Given the description of an element on the screen output the (x, y) to click on. 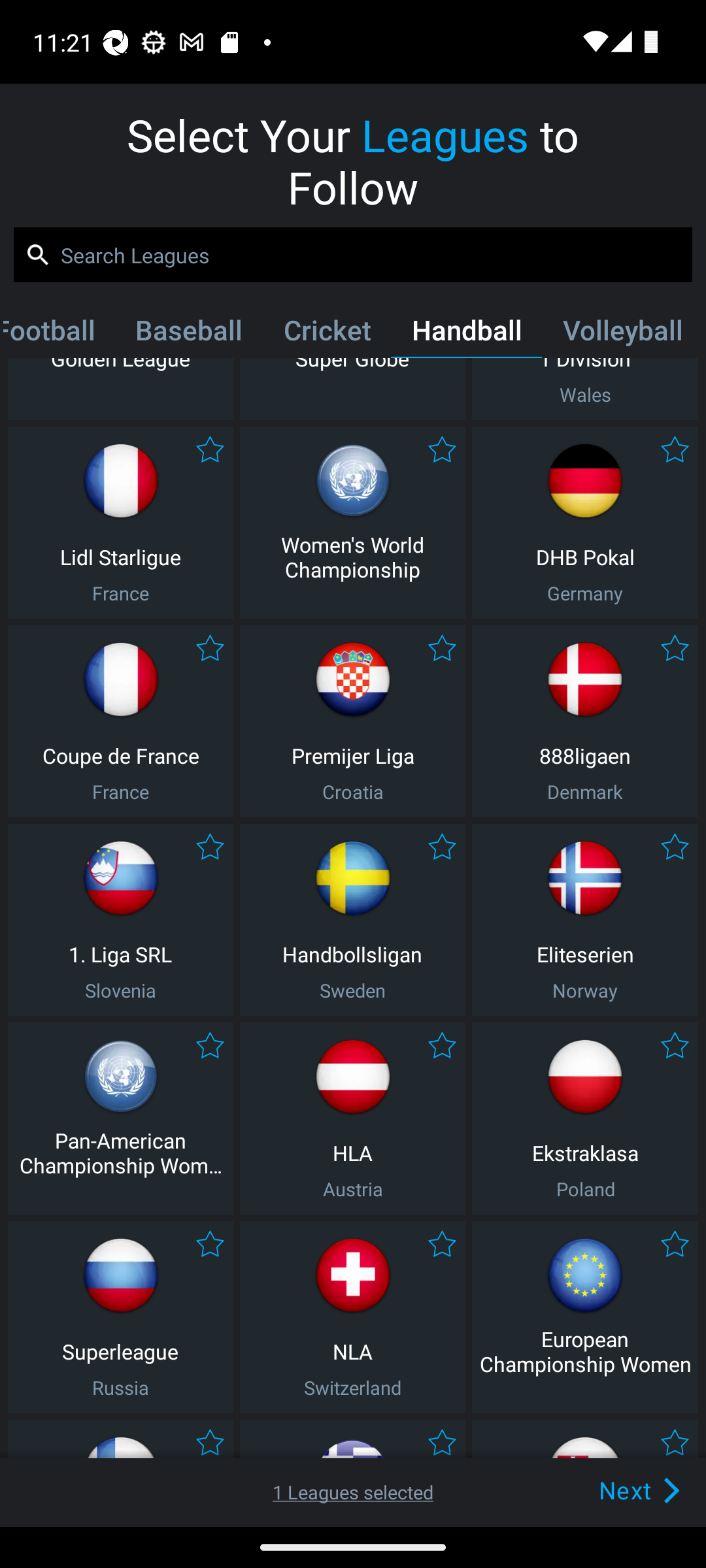
Search Leagues (352, 254)
A. Football (59, 333)
Baseball (188, 333)
Cricket (326, 333)
Handball (466, 333)
Volleyball (622, 333)
Lidl Starligue France (120, 522)
Women's World Championship (352, 522)
DHB Pokal Germany (585, 522)
Coupe de France France (120, 720)
Premijer Liga Croatia (352, 720)
888ligaen Denmark (585, 720)
1. Liga SRL Slovenia (120, 919)
Handbollsligan Sweden (352, 919)
Eliteserien Norway (585, 919)
Pan-American Championship Women (120, 1118)
HLA Austria (352, 1118)
Ekstraklasa Poland (585, 1118)
Superleague Russia (120, 1316)
NLA Switzerland (352, 1316)
European Championship Women (585, 1316)
Next (609, 1489)
1 Leagues selected (352, 1491)
